Given the description of an element on the screen output the (x, y) to click on. 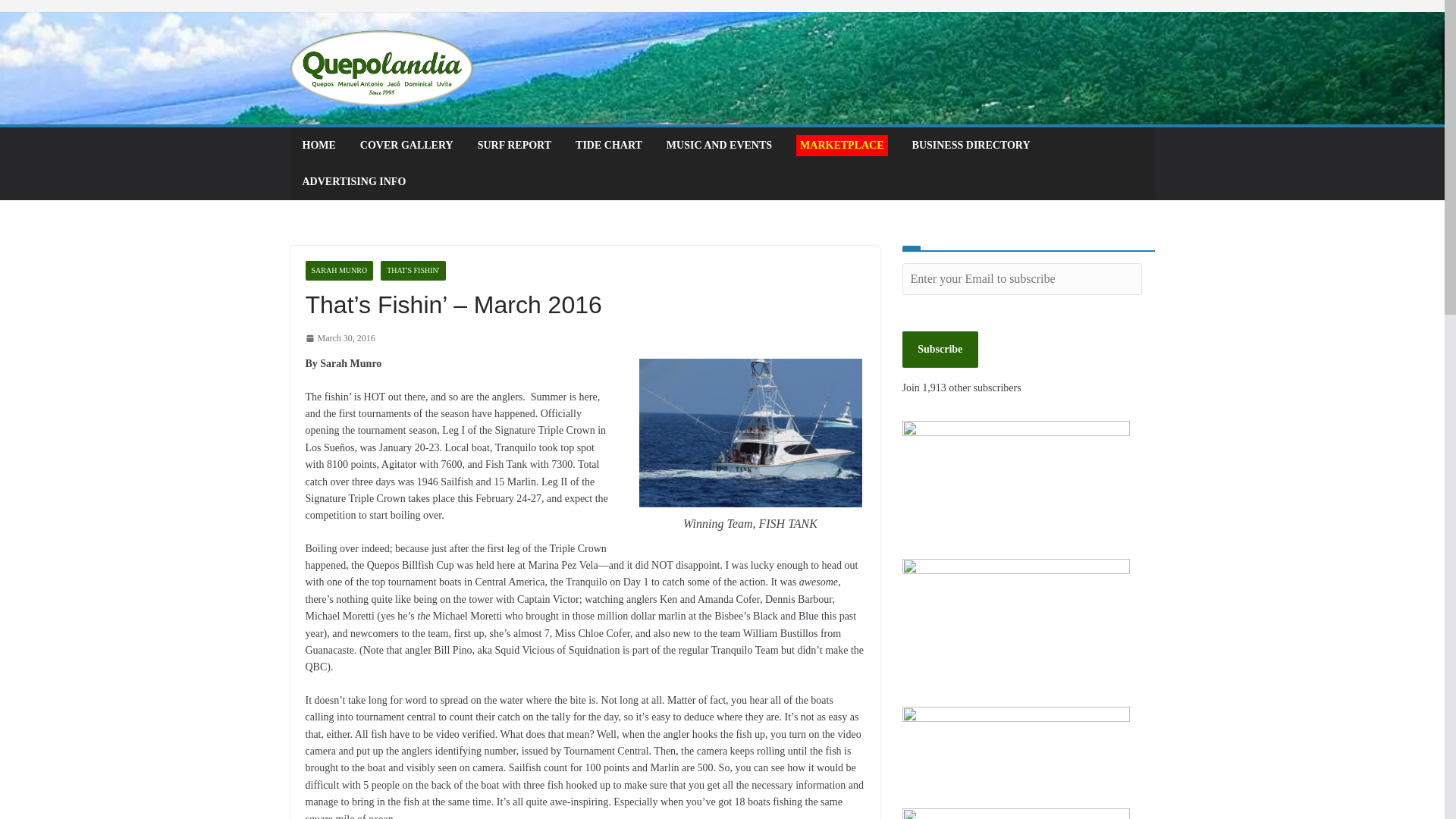
BUSINESS DIRECTORY (971, 145)
MUSIC AND EVENTS (718, 145)
SARAH MUNRO (338, 270)
HOME (317, 145)
THAT'S FISHIN' (412, 270)
MARKETPLACE (841, 145)
TIDE CHART (608, 145)
SURF REPORT (514, 145)
COVER GALLERY (405, 145)
Subscribe (940, 349)
